Given the description of an element on the screen output the (x, y) to click on. 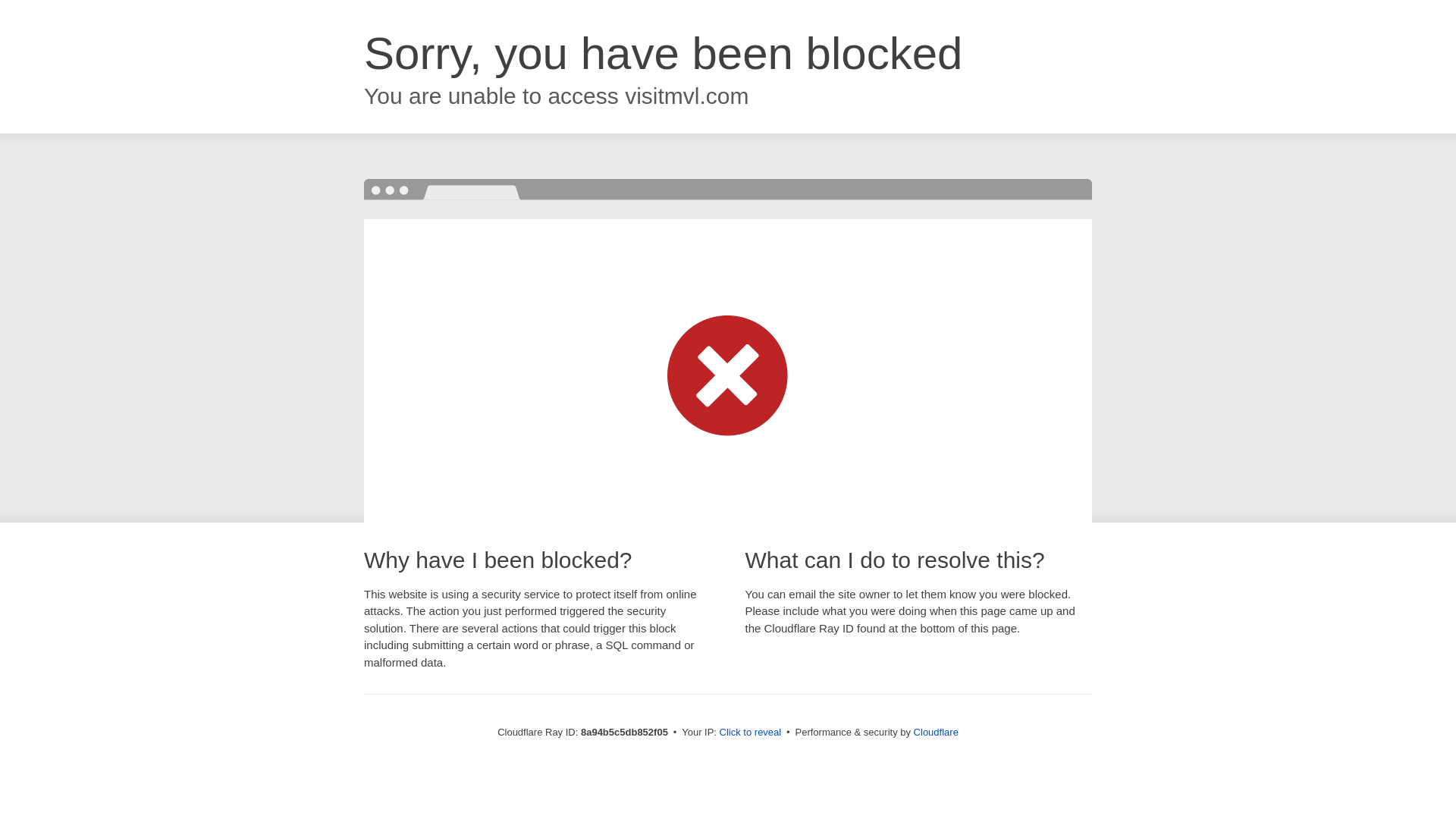
Click to reveal (750, 732)
Cloudflare (936, 731)
